Given the description of an element on the screen output the (x, y) to click on. 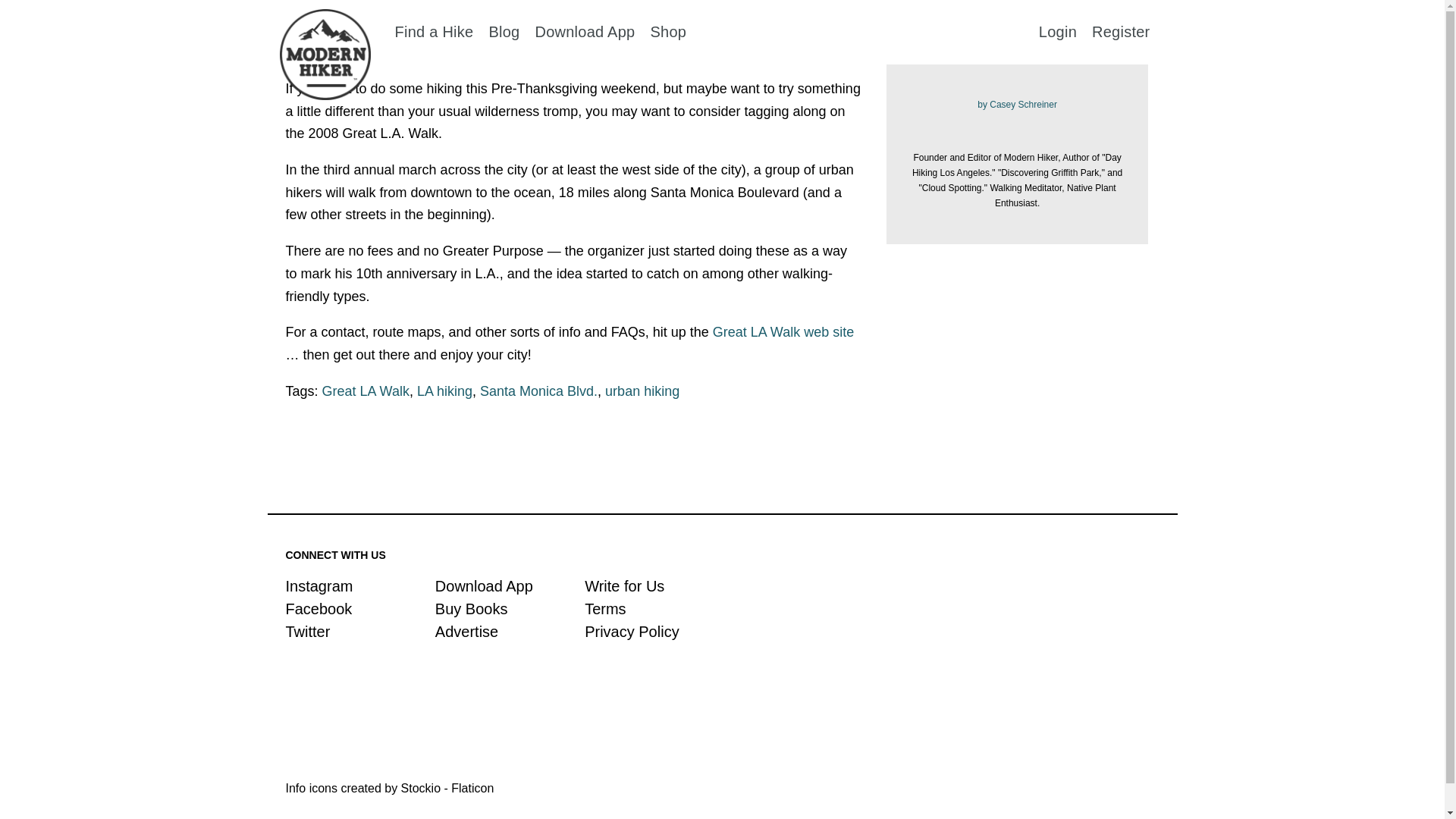
Twitter (307, 631)
Find a Hike (433, 30)
Great LA Walk (365, 391)
Shop (667, 30)
Privacy Policy (631, 631)
Download App (483, 586)
Facebook (318, 608)
Advertise (466, 631)
Buy Books (471, 608)
Download App (584, 30)
Write for Us (624, 586)
Info icons created by Stockio - Flaticon (389, 788)
Great LA Walk web site (783, 331)
info icons (389, 788)
Register (1121, 30)
